Given the description of an element on the screen output the (x, y) to click on. 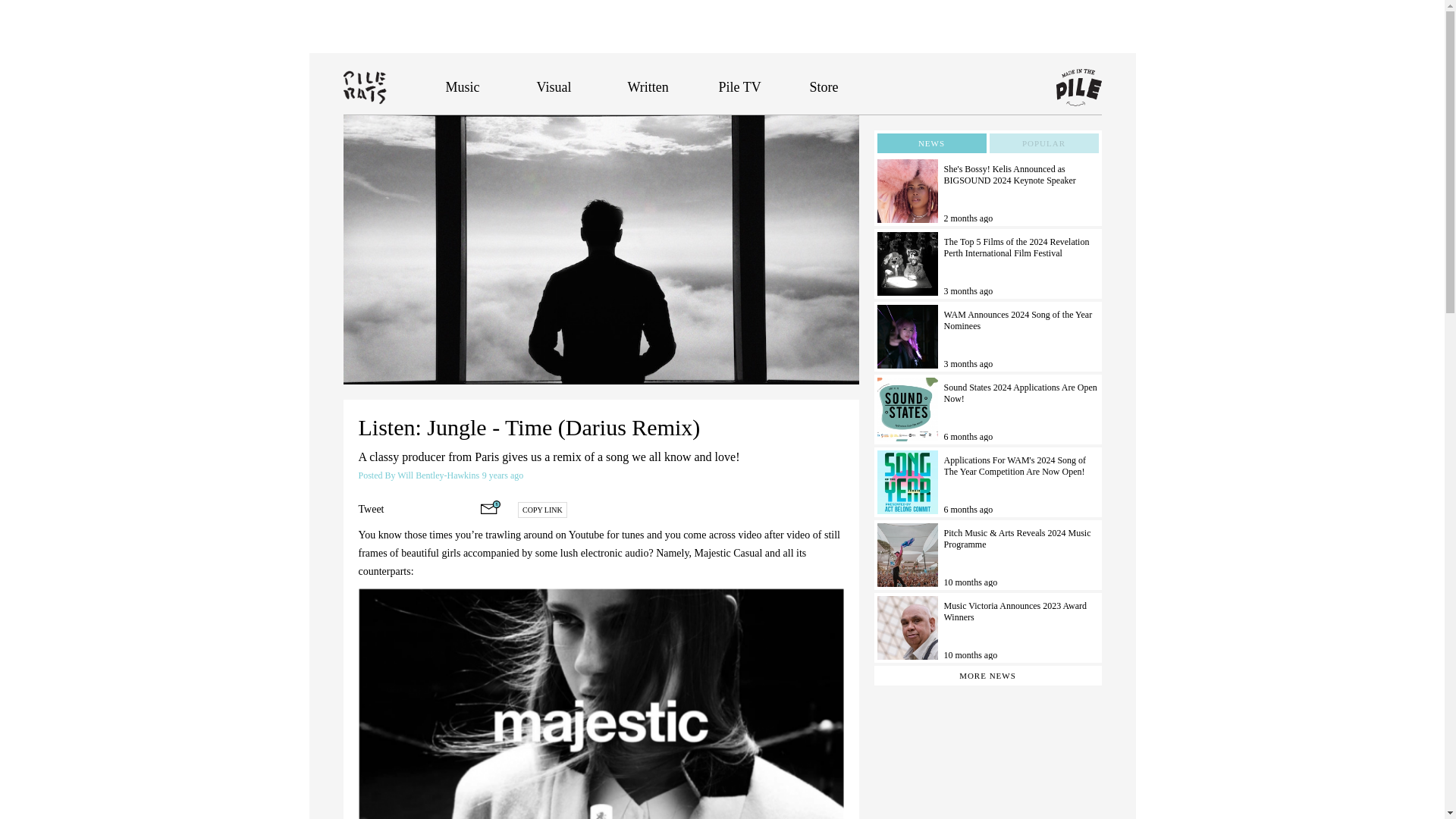
Visual (554, 86)
Pile TV (740, 86)
Made In The Pile (1077, 87)
Share via email (490, 507)
Written (647, 86)
Home (393, 86)
Visual (554, 86)
Pile TV (740, 86)
Music (462, 86)
Made In The Pile (1077, 87)
